Given the description of an element on the screen output the (x, y) to click on. 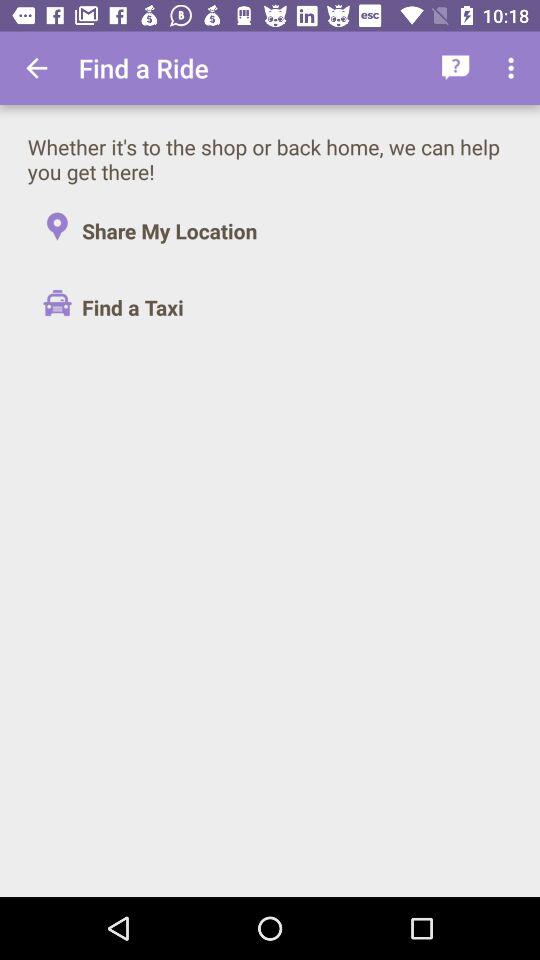
turn on the icon next to the find a ride item (455, 67)
